Given the description of an element on the screen output the (x, y) to click on. 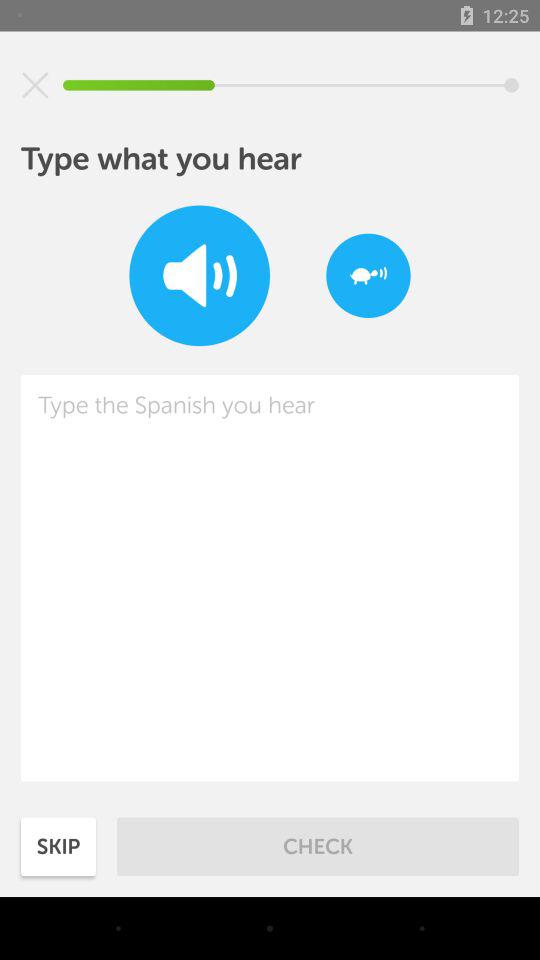
turn off the icon to the right of the skip icon (318, 846)
